Given the description of an element on the screen output the (x, y) to click on. 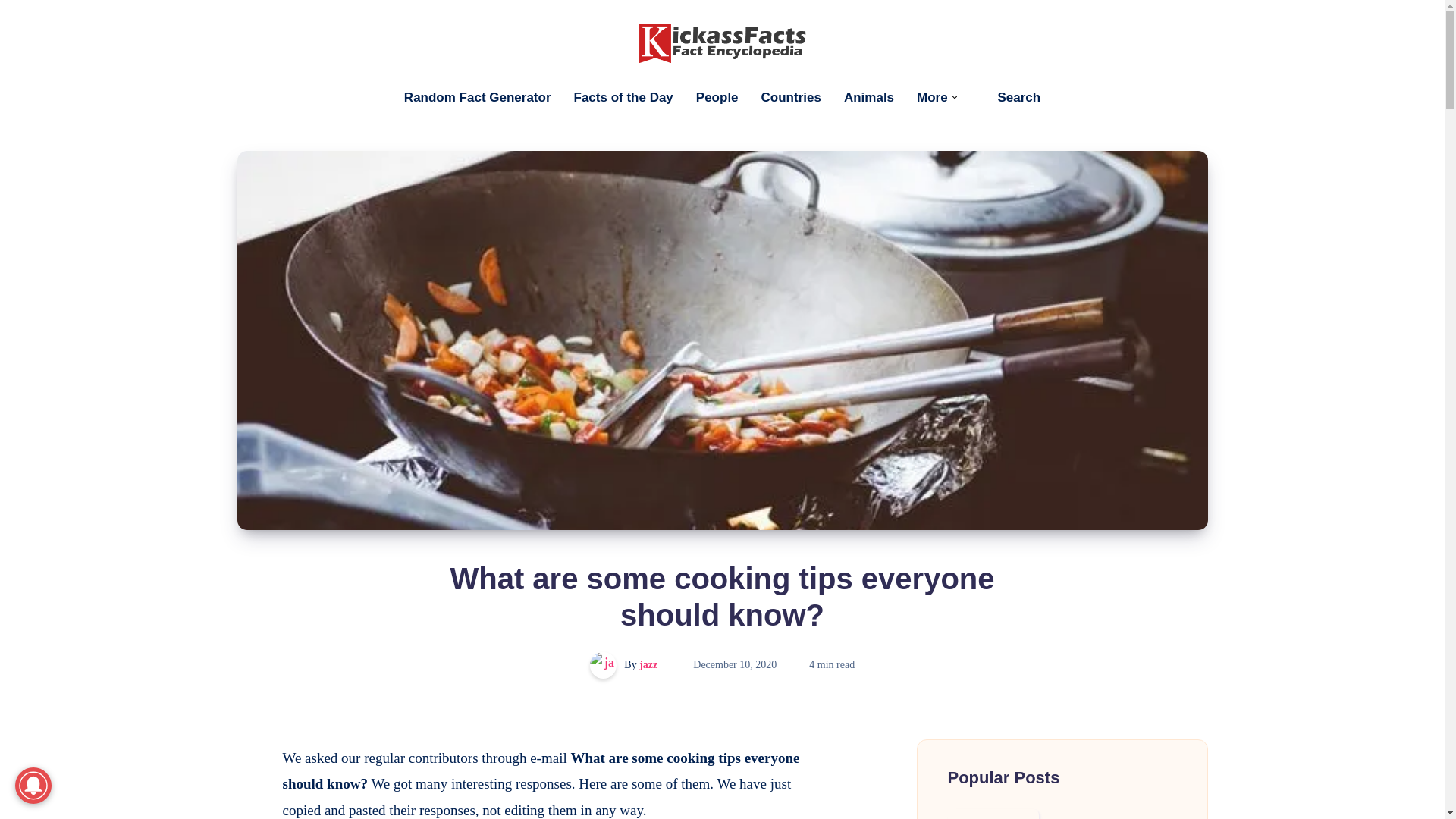
Facts of the Day (622, 97)
More (932, 97)
Animals (868, 97)
Countries (791, 97)
People (716, 97)
Random Fact Generator (477, 97)
